Given the description of an element on the screen output the (x, y) to click on. 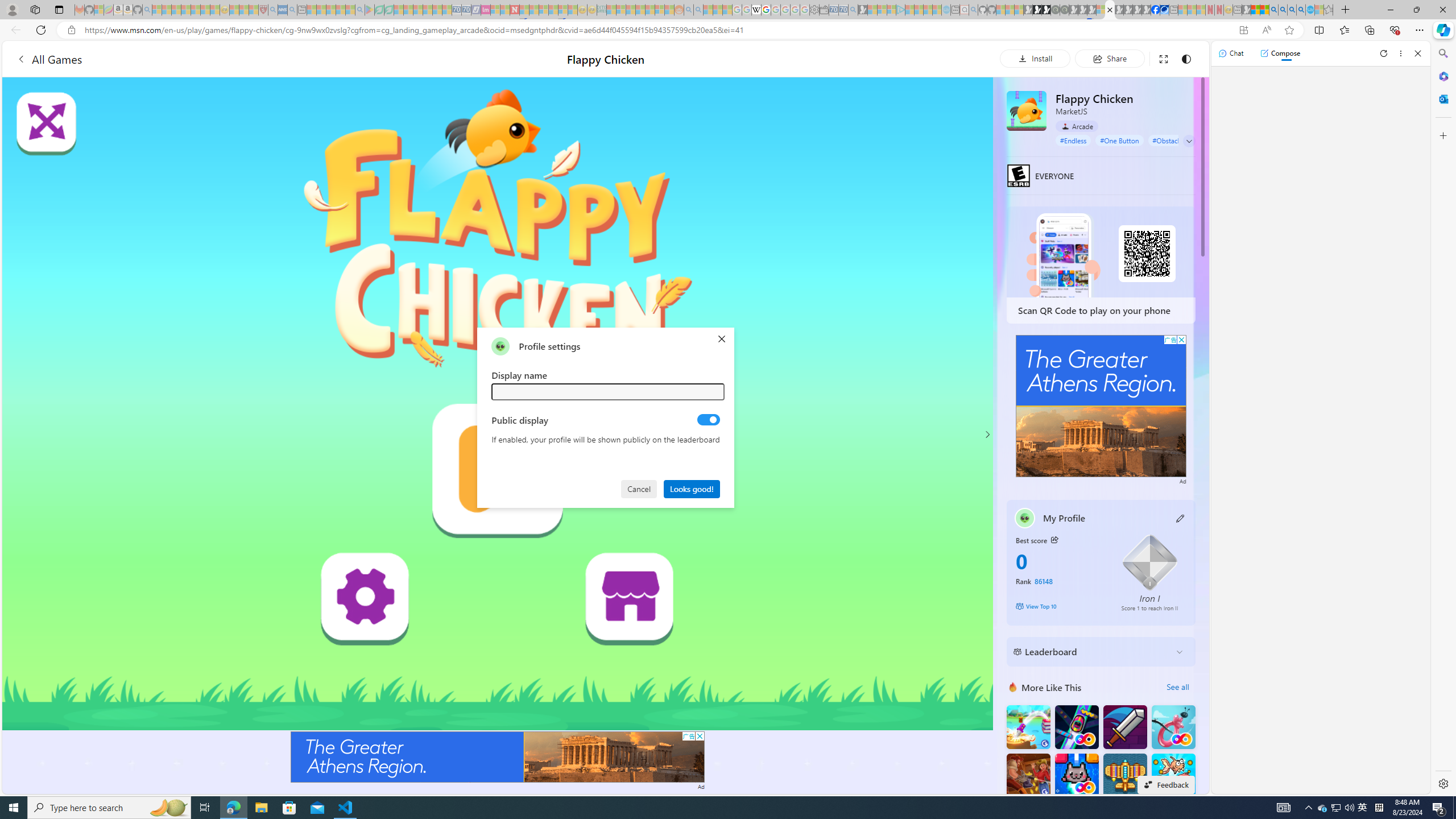
AutomationID: cbb (1181, 339)
Class: button (1053, 539)
#Obstacle Course (1178, 140)
Target page - Wikipedia (755, 9)
Balloon FRVR (1173, 726)
